Given the description of an element on the screen output the (x, y) to click on. 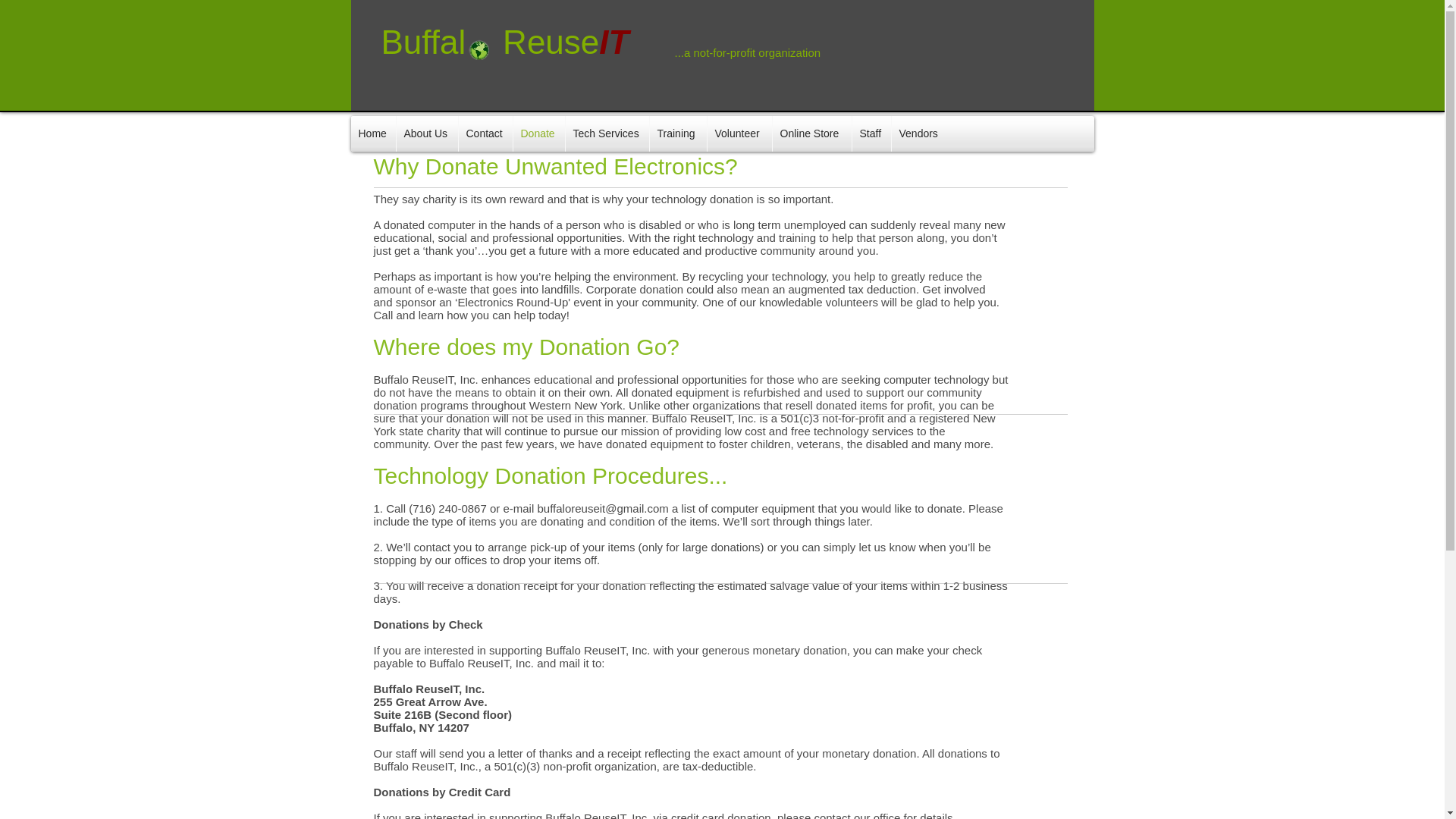
Home (372, 133)
Online Store (810, 133)
Contact (485, 133)
Volunteer (738, 133)
Staff (871, 133)
Training (677, 133)
About Us (426, 133)
Green Globe (478, 49)
Tech Services (607, 133)
Donate (538, 133)
Vendors (920, 133)
